Given the description of an element on the screen output the (x, y) to click on. 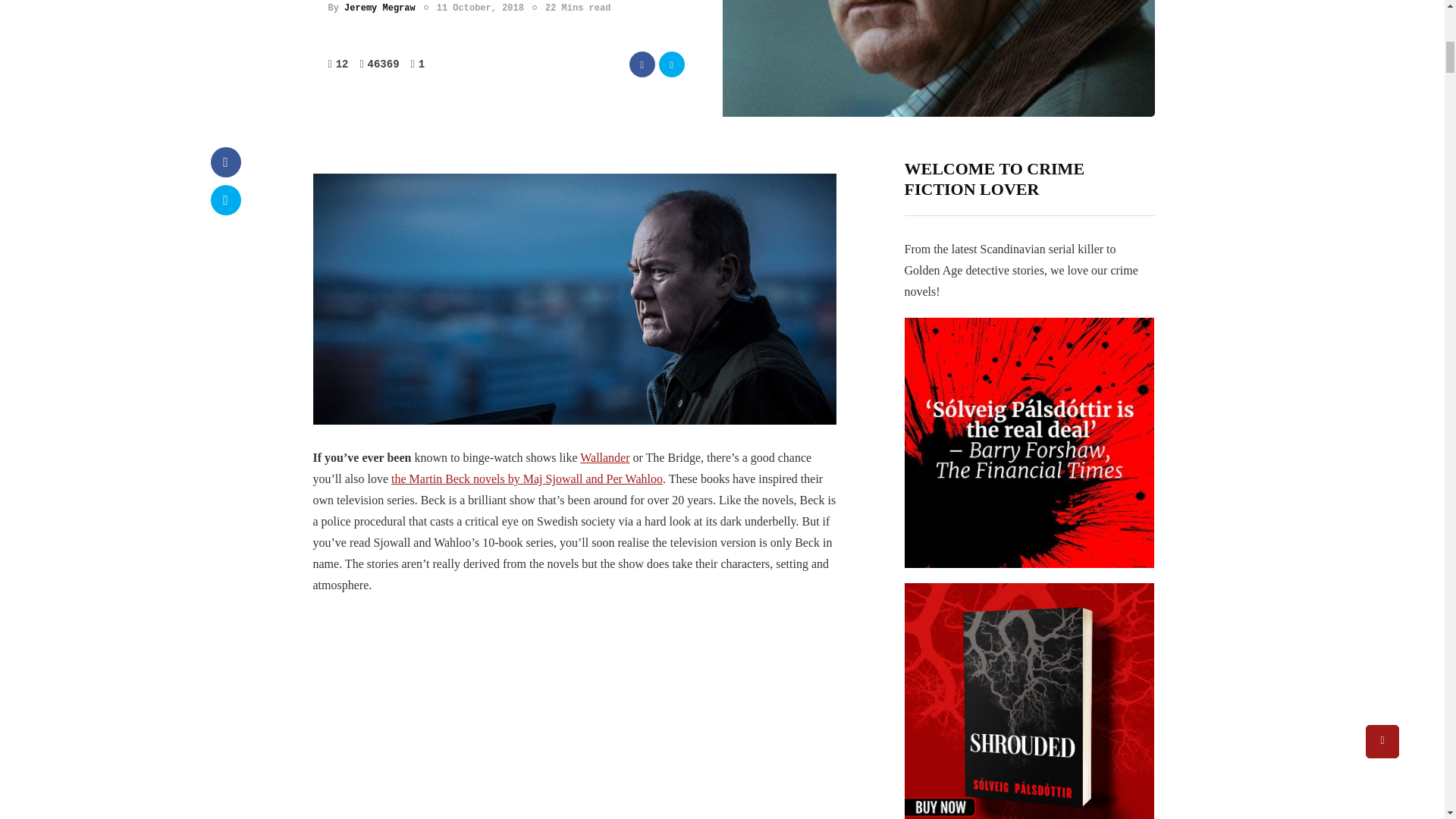
Tweet this (671, 63)
Posts by Jeremy Megraw (378, 8)
Jeremy Megraw (378, 8)
the Martin Beck novels by Maj Sjowall and Per Wahloo (526, 478)
Share with Facebook (226, 162)
Share with Facebook (641, 63)
Tweet this (226, 200)
12 (342, 64)
Wallander (603, 457)
